Given the description of an element on the screen output the (x, y) to click on. 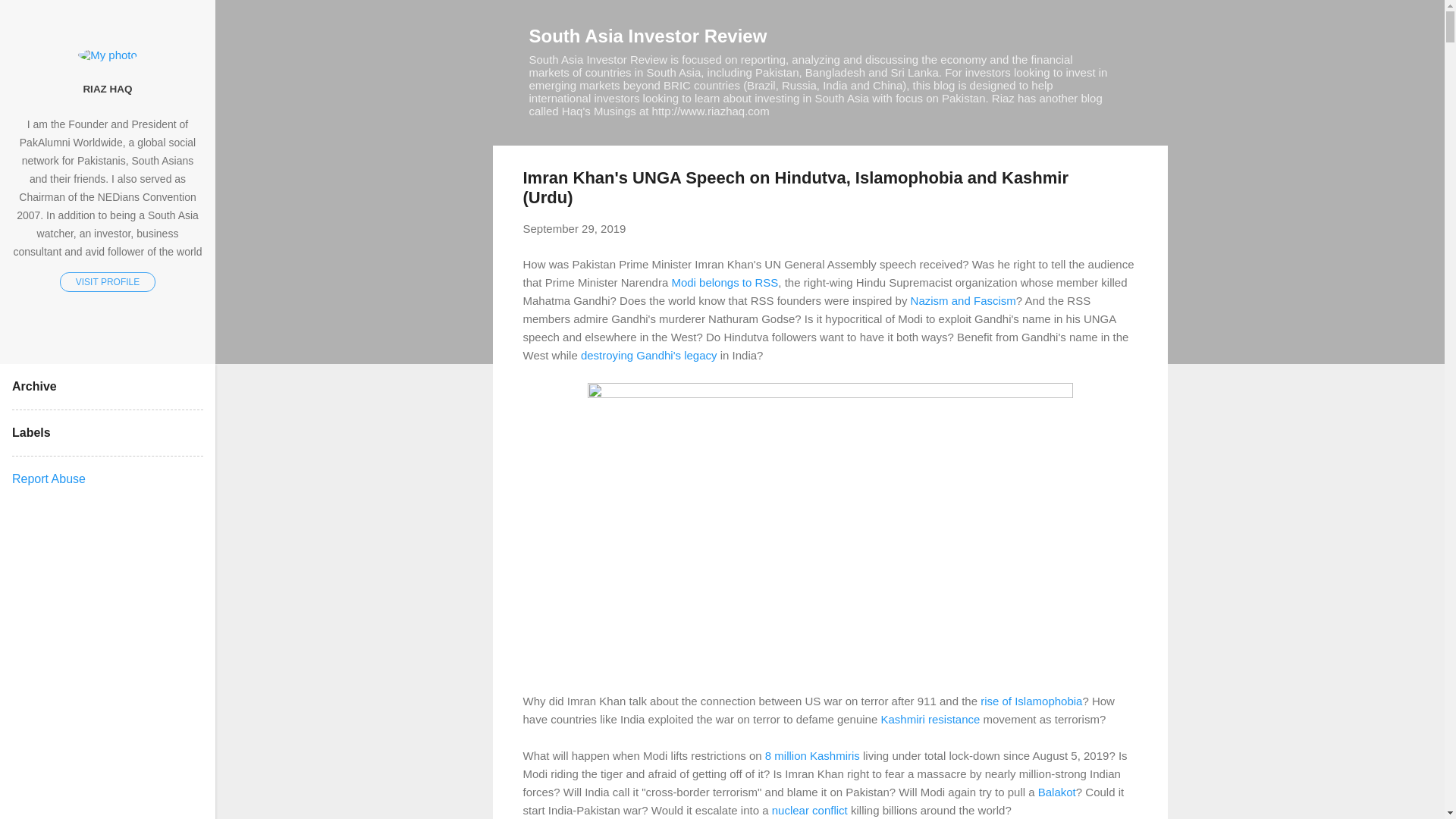
8 million Kashmiris (812, 755)
Nazism and Fascism (963, 300)
South Asia Investor Review (648, 35)
Modi belongs to RSS (724, 282)
Balakot (1056, 791)
Search (29, 18)
Kashmiri resistance (929, 718)
September 29, 2019 (574, 228)
nuclear conflict (809, 809)
permanent link (574, 228)
destroying Gandhi's legacy (648, 354)
rise of Islamophobia (1030, 700)
